Given the description of an element on the screen output the (x, y) to click on. 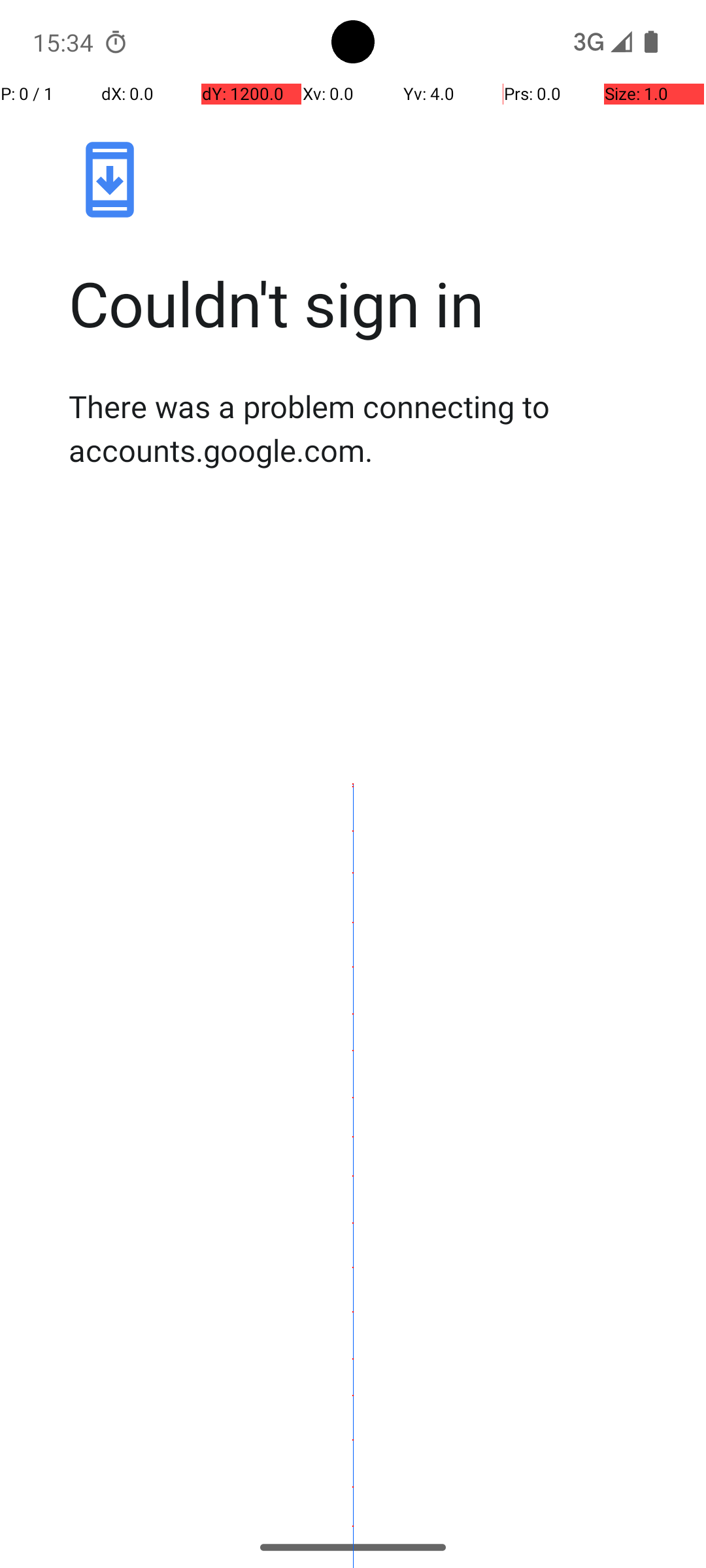
Couldn't sign in Element type: android.widget.TextView (366, 302)
There was a problem connecting to accounts.google.com. Element type: android.widget.TextView (366, 427)
